Given the description of an element on the screen output the (x, y) to click on. 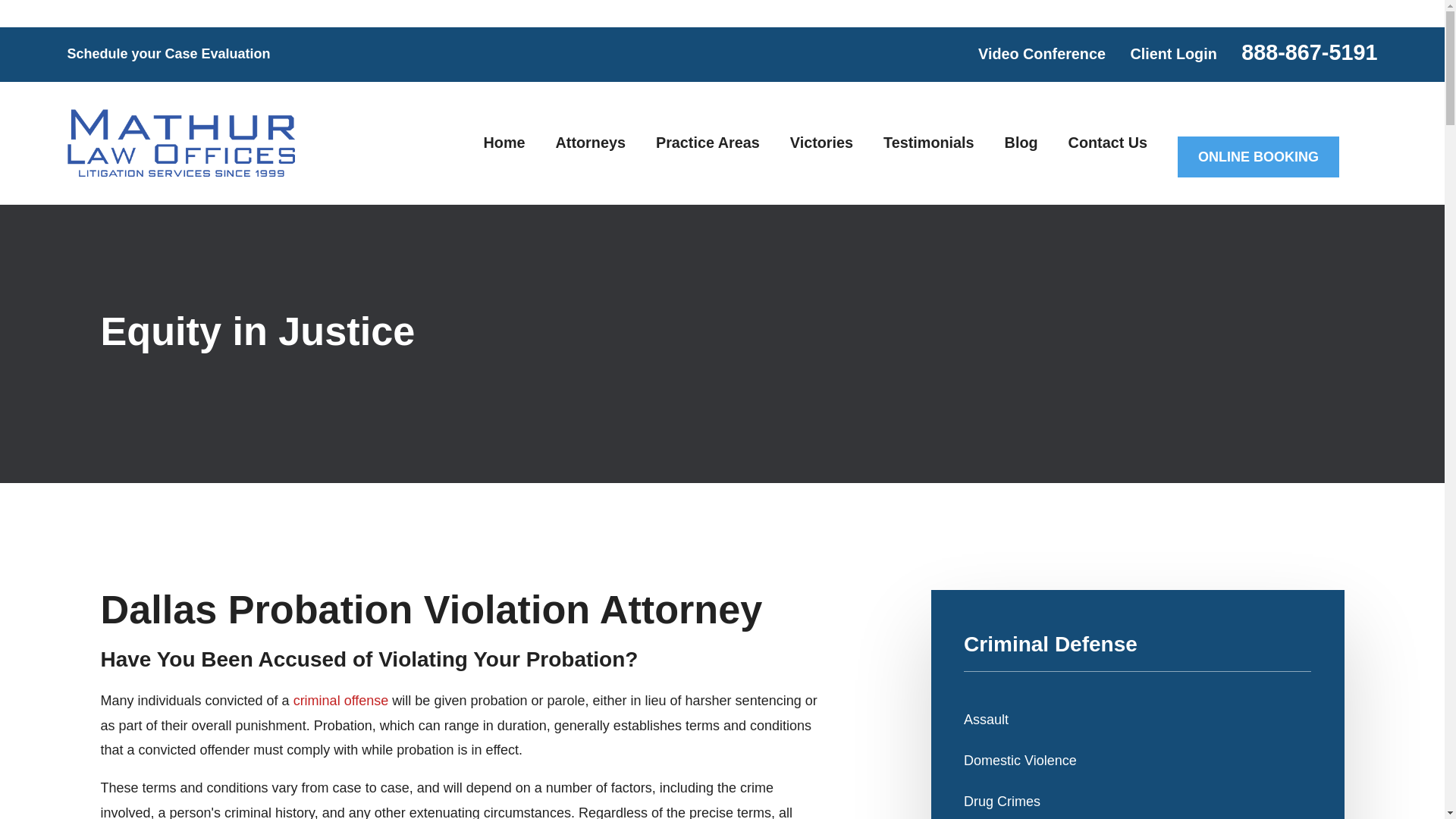
Practice Areas (708, 143)
888-867-5191 (1309, 52)
Video Conference (1041, 53)
Testimonials (928, 143)
Attorneys (591, 143)
Client Login (1172, 53)
Open child menu of Drug Crimes (1304, 801)
Home (180, 142)
Open child menu of Assault (1304, 719)
Victories (821, 143)
